Given the description of an element on the screen output the (x, y) to click on. 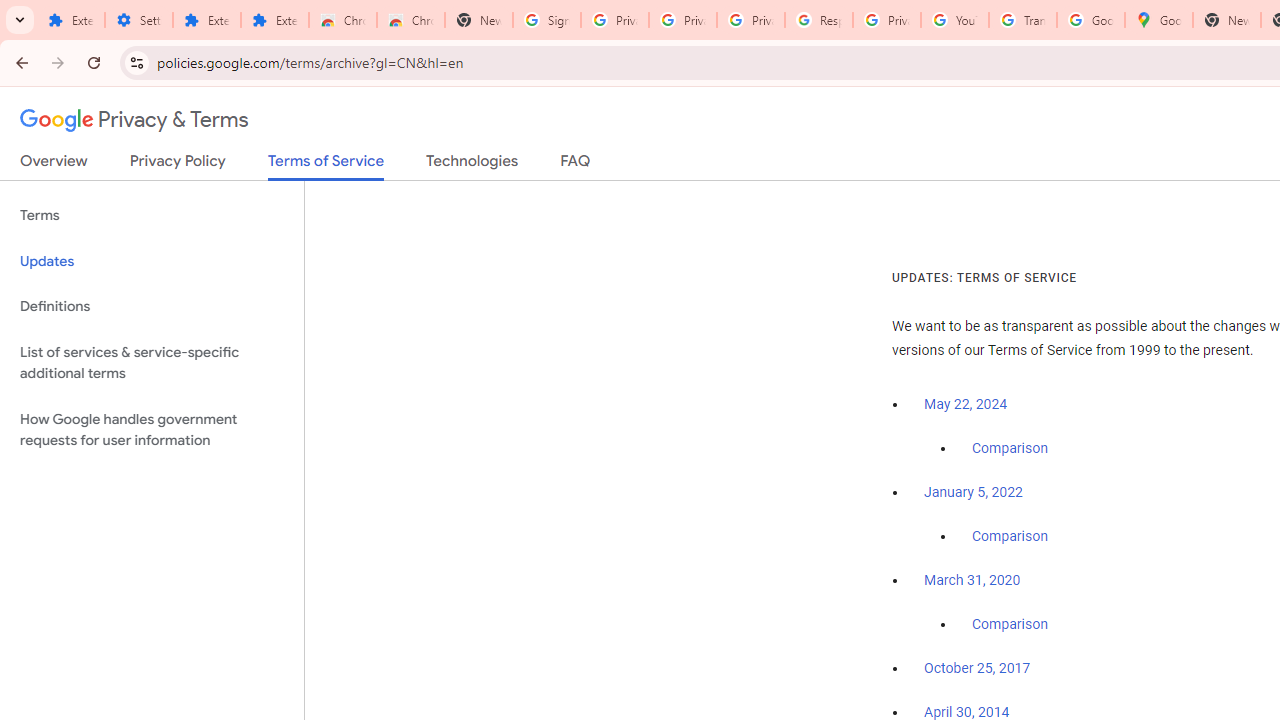
Privacy & Terms (134, 120)
Chrome Web Store (342, 20)
Terms (152, 215)
New Tab (1226, 20)
Google Maps (1158, 20)
How Google handles government requests for user information (152, 429)
Chrome Web Store - Themes (411, 20)
New Tab (479, 20)
